Given the description of an element on the screen output the (x, y) to click on. 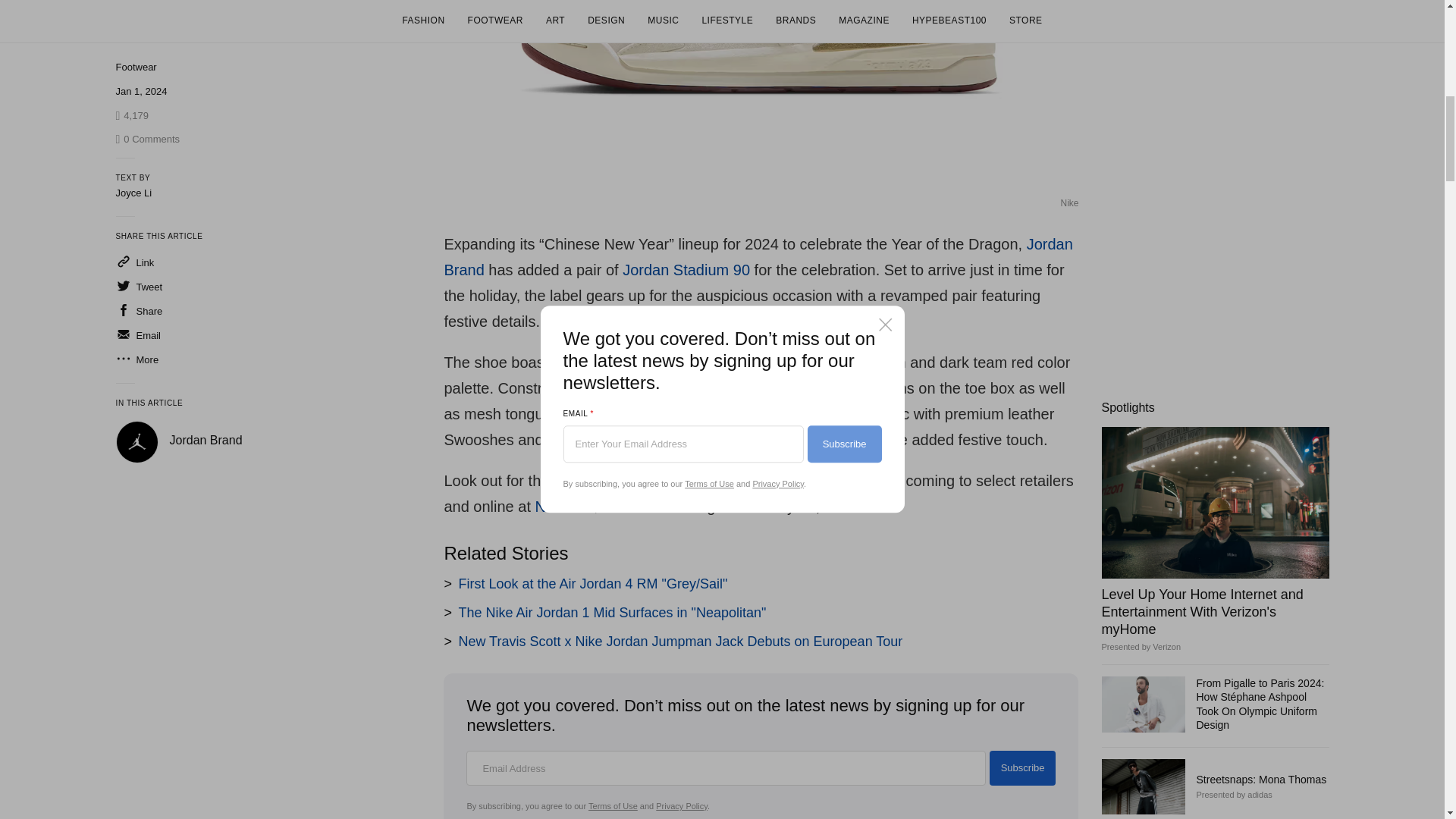
Jordan Stadium 90 (686, 269)
Jordan Brand (206, 153)
Jordan Brand (757, 256)
Streetsnaps: Mona Thomas (1142, 786)
Streetsnaps: Mona Thomas (1261, 779)
